Given the description of an element on the screen output the (x, y) to click on. 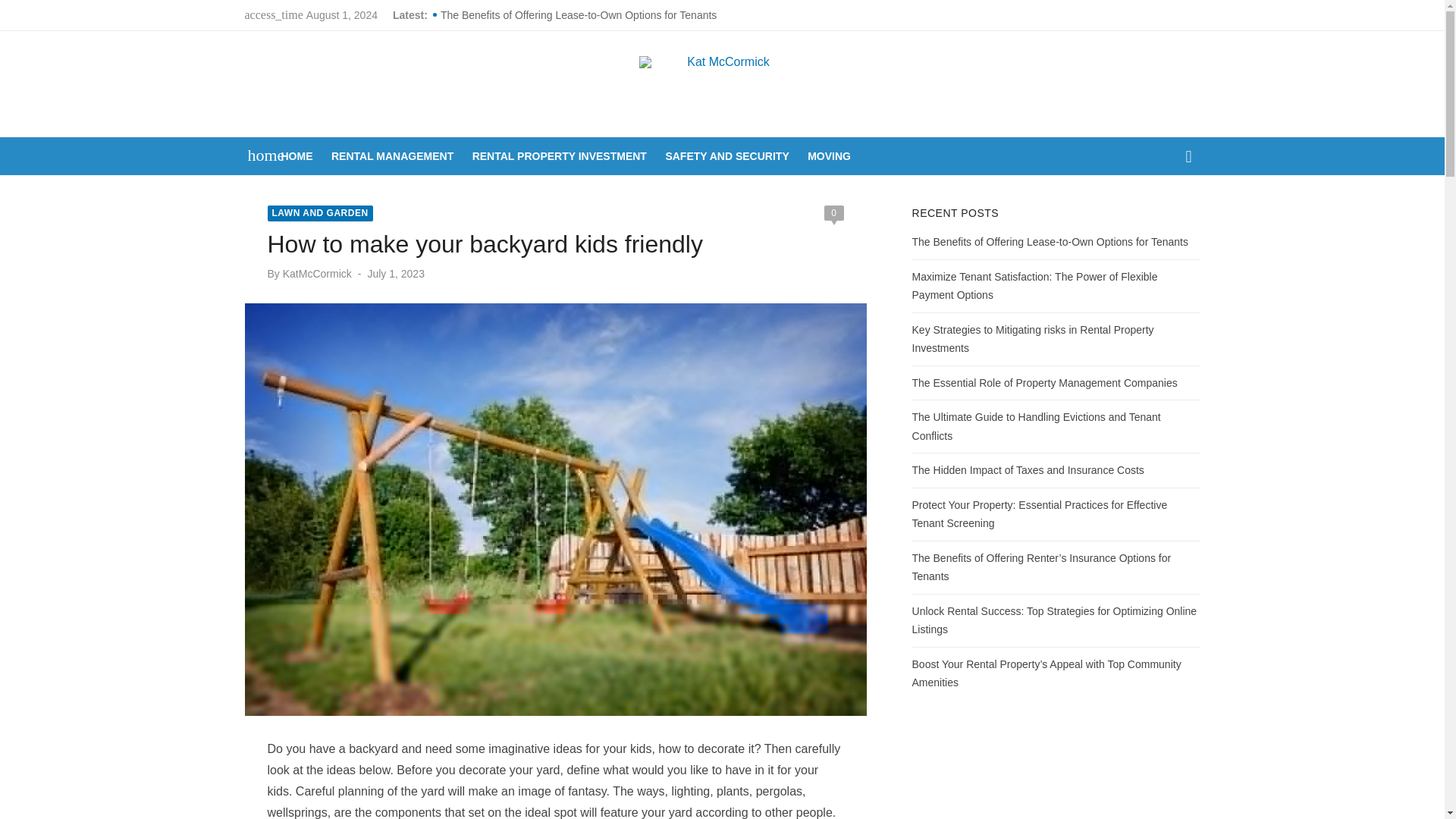
LAWN AND GARDEN (319, 213)
0 (833, 212)
July 1, 2023 (395, 273)
MOVING (829, 156)
RENTAL MANAGEMENT (393, 156)
HOME (296, 156)
SAFETY AND SECURITY (727, 156)
KatMcCormick (317, 273)
The Benefits of Offering Lease-to-Own Options for Tenants (610, 15)
home (258, 154)
RENTAL PROPERTY INVESTMENT (558, 156)
